Given the description of an element on the screen output the (x, y) to click on. 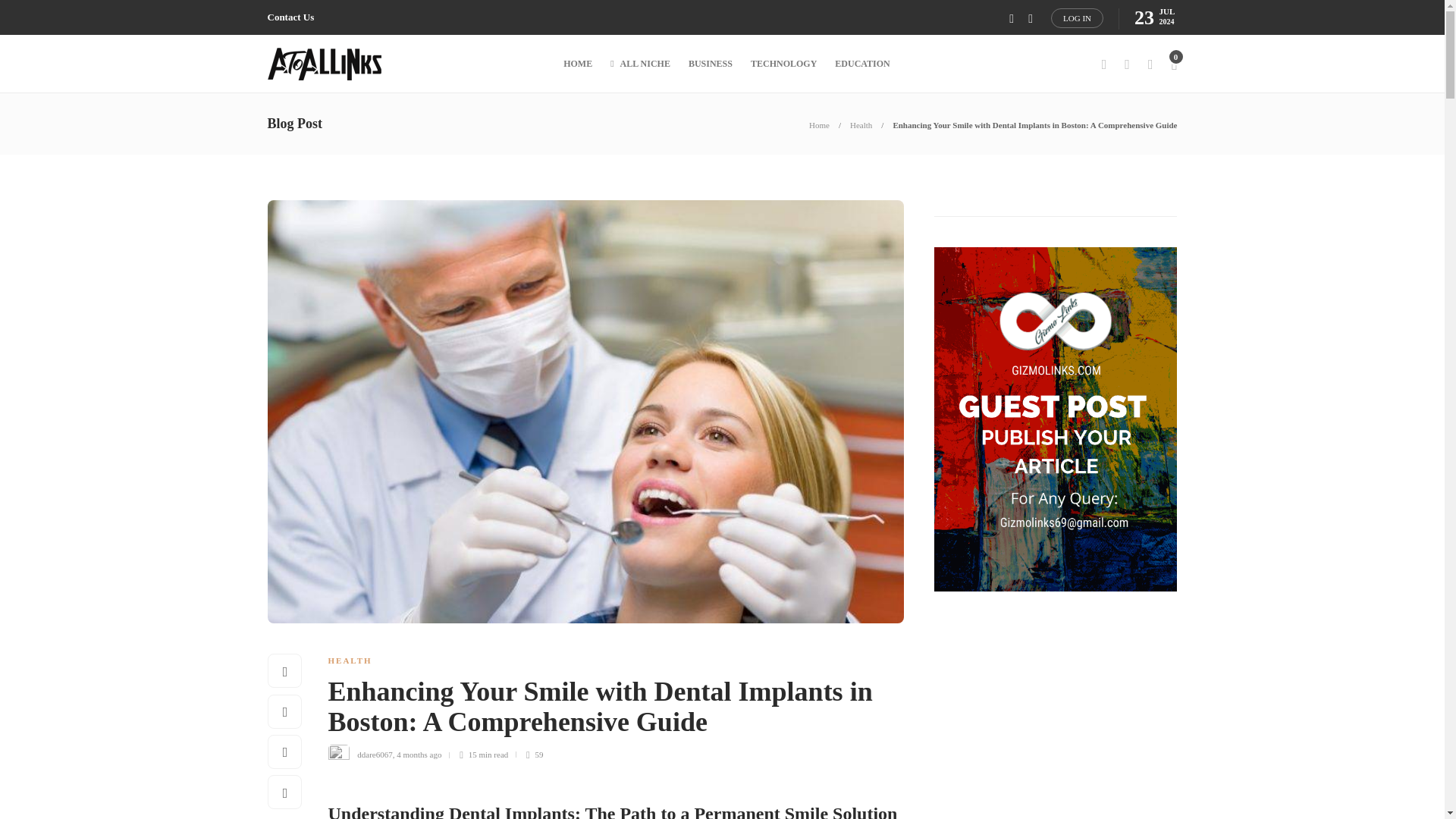
HOME (577, 63)
ddare6067 (373, 754)
Home (819, 124)
Home (819, 124)
TECHNOLOGY (783, 63)
HEALTH (349, 660)
BUSINESS (710, 63)
Health (861, 124)
ALL NICHE (639, 63)
EDUCATION (861, 63)
0 (1173, 63)
Contact Us (290, 17)
LOG IN (1077, 17)
